Given the description of an element on the screen output the (x, y) to click on. 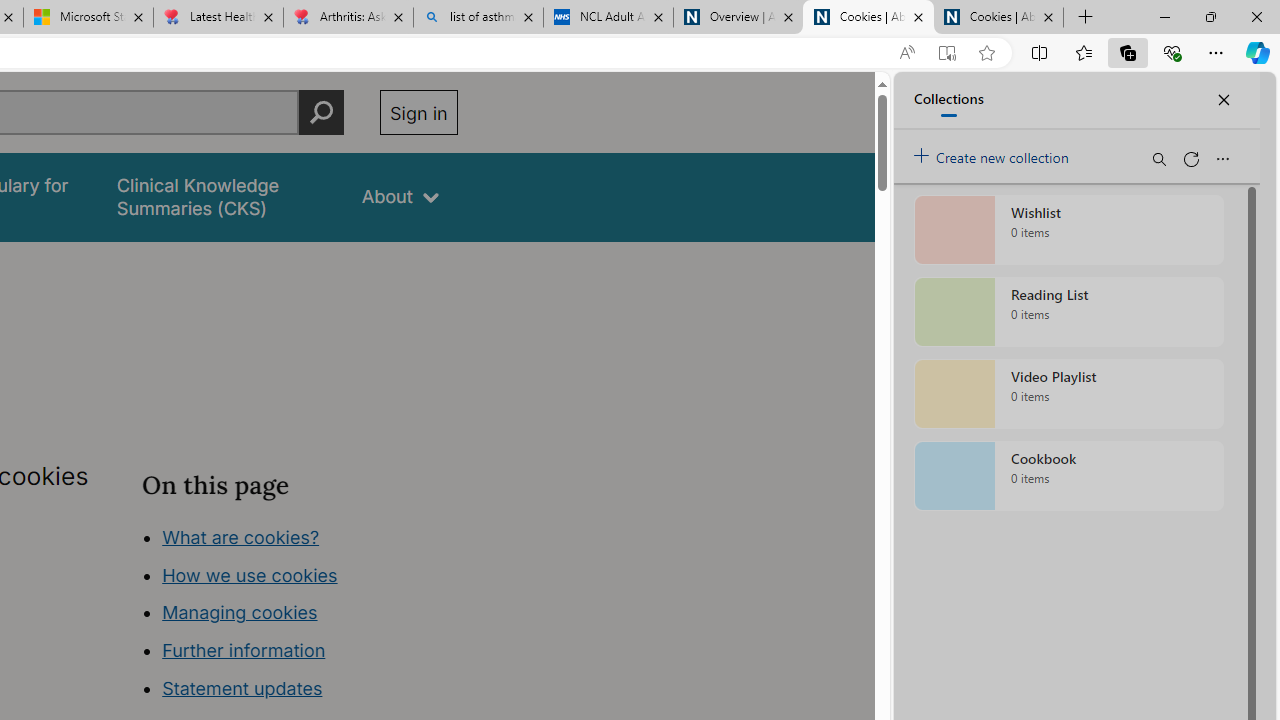
What are cookies? (241, 536)
